Given the description of an element on the screen output the (x, y) to click on. 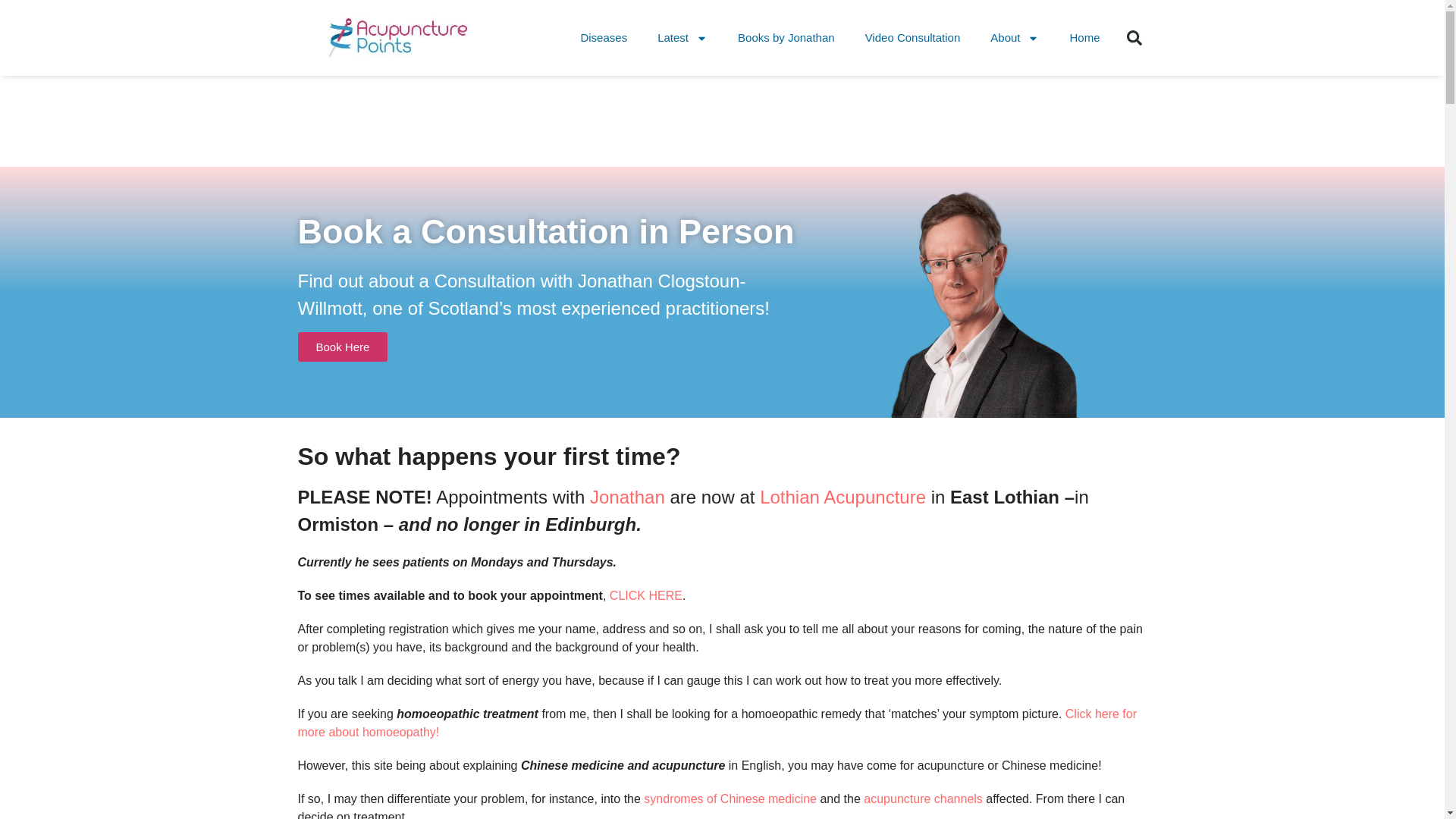
Video Consultation (912, 38)
About (1014, 38)
Books by Jonathan (786, 38)
Diseases (603, 38)
Latest (682, 38)
